Given the description of an element on the screen output the (x, y) to click on. 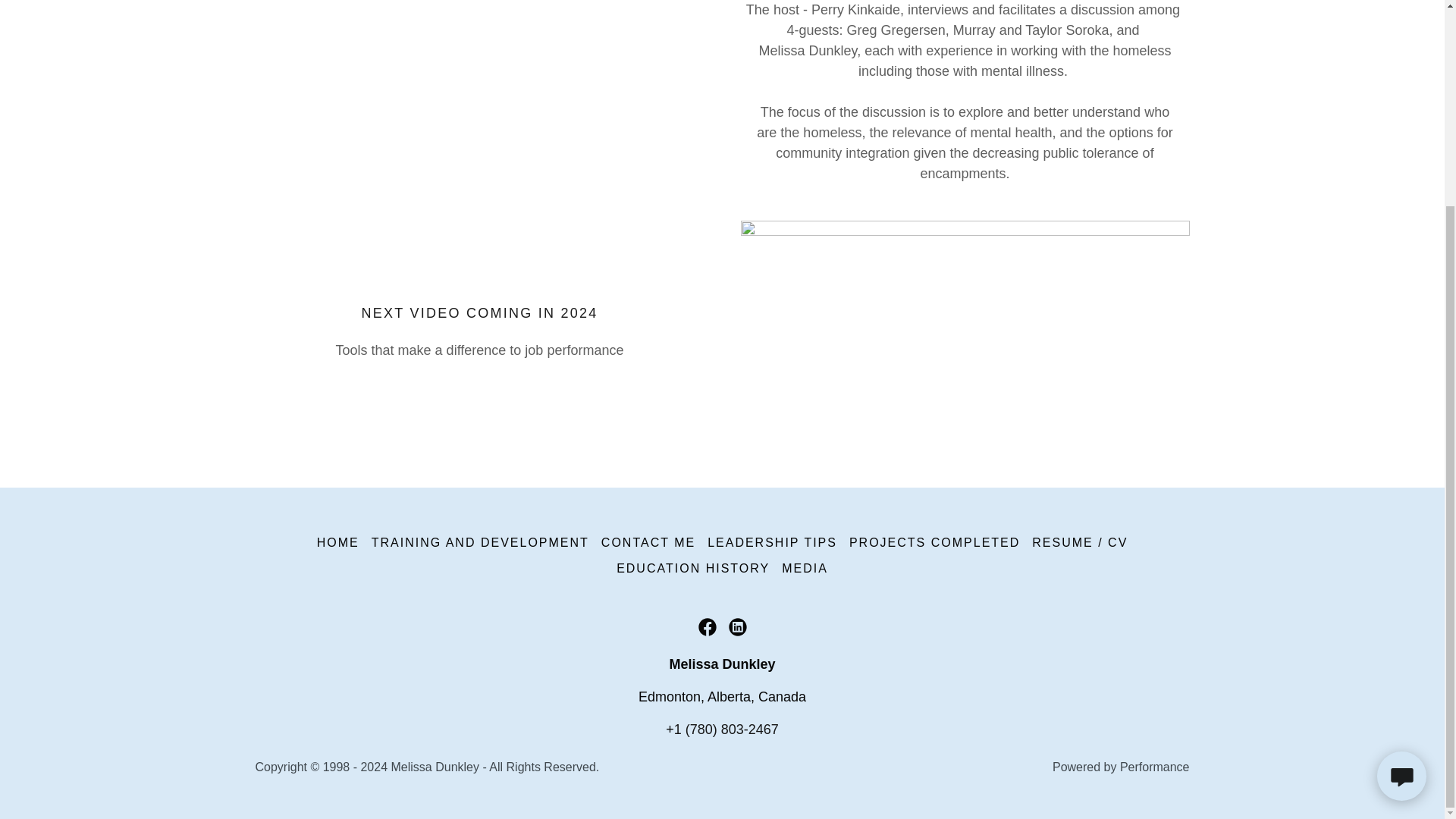
HOME (338, 542)
CONTACT ME (648, 542)
LEADERSHIP TIPS (772, 542)
PROJECTS COMPLETED (934, 542)
TRAINING AND DEVELOPMENT (480, 542)
